Given the description of an element on the screen output the (x, y) to click on. 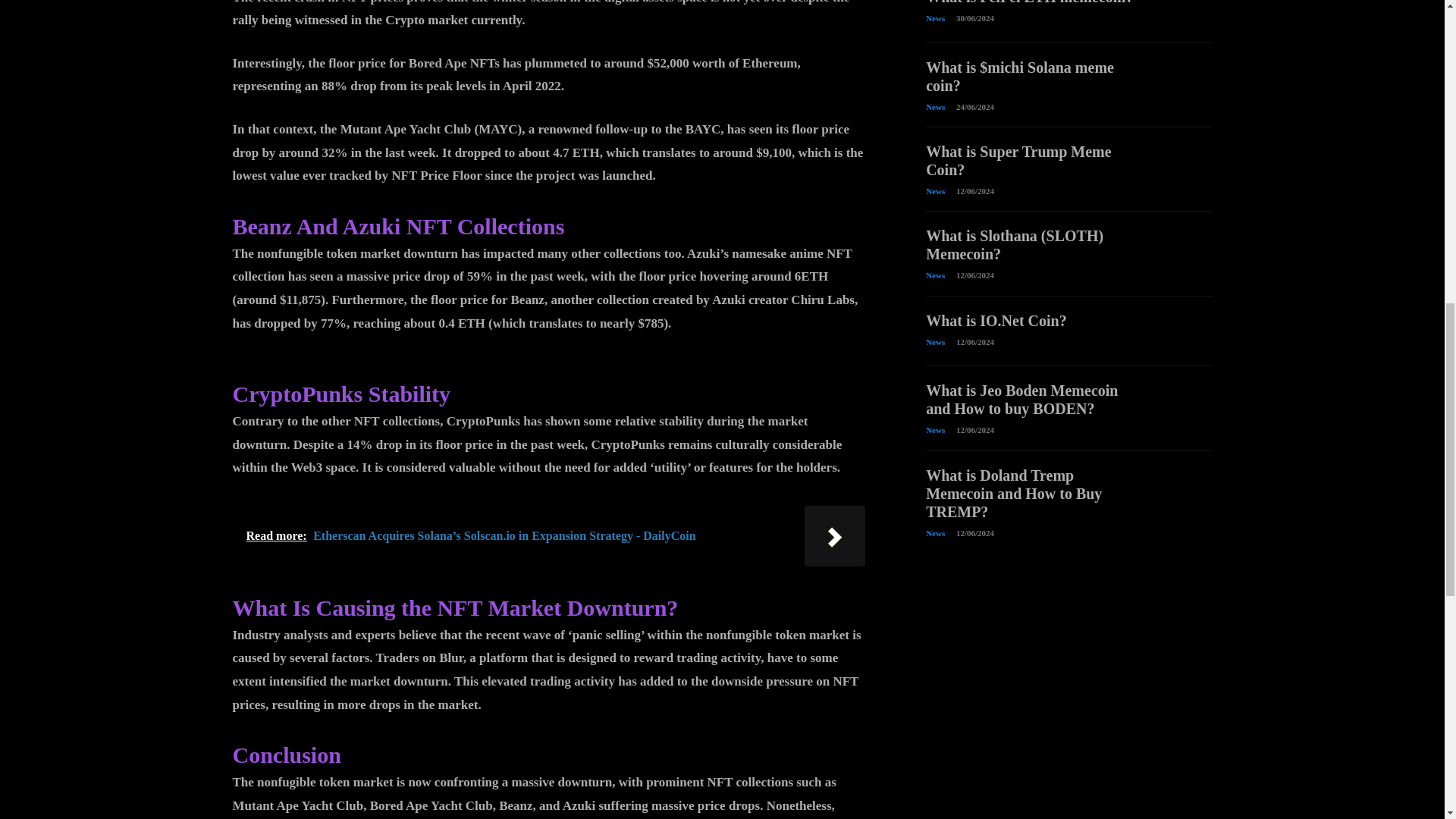
What is IO.Net Coin? (1182, 332)
What is PeiPei ETH memecoin? (1182, 13)
What is IO.Net Coin? (996, 320)
What is Super Trump Meme Coin? (1018, 160)
What is PeiPei ETH memecoin? (1029, 2)
What is Super Trump Meme Coin? (1182, 162)
